Given the description of an element on the screen output the (x, y) to click on. 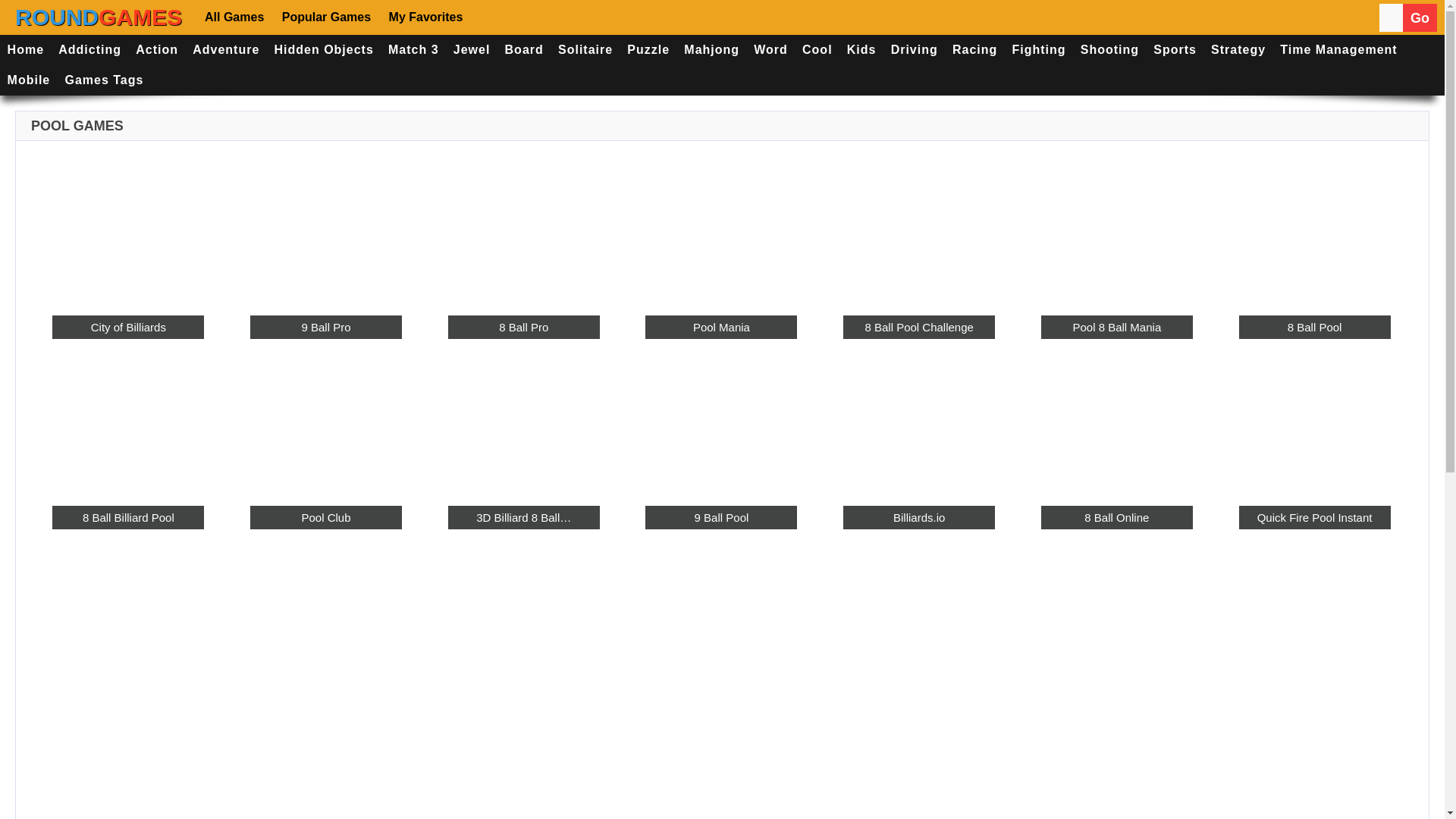
Action (157, 50)
8 Ball Billiard Pool (127, 517)
Our YouTube Channel (583, 16)
ROUNDGAMES (98, 17)
Follow us on Facebook (492, 16)
Quick Fire Pool Instant (1314, 517)
8 Ball Online (1116, 517)
8 Ball Pro (523, 327)
Match 3 (412, 50)
Home (25, 50)
Addicting (89, 50)
Follow us on Twitter (536, 16)
